Given the description of an element on the screen output the (x, y) to click on. 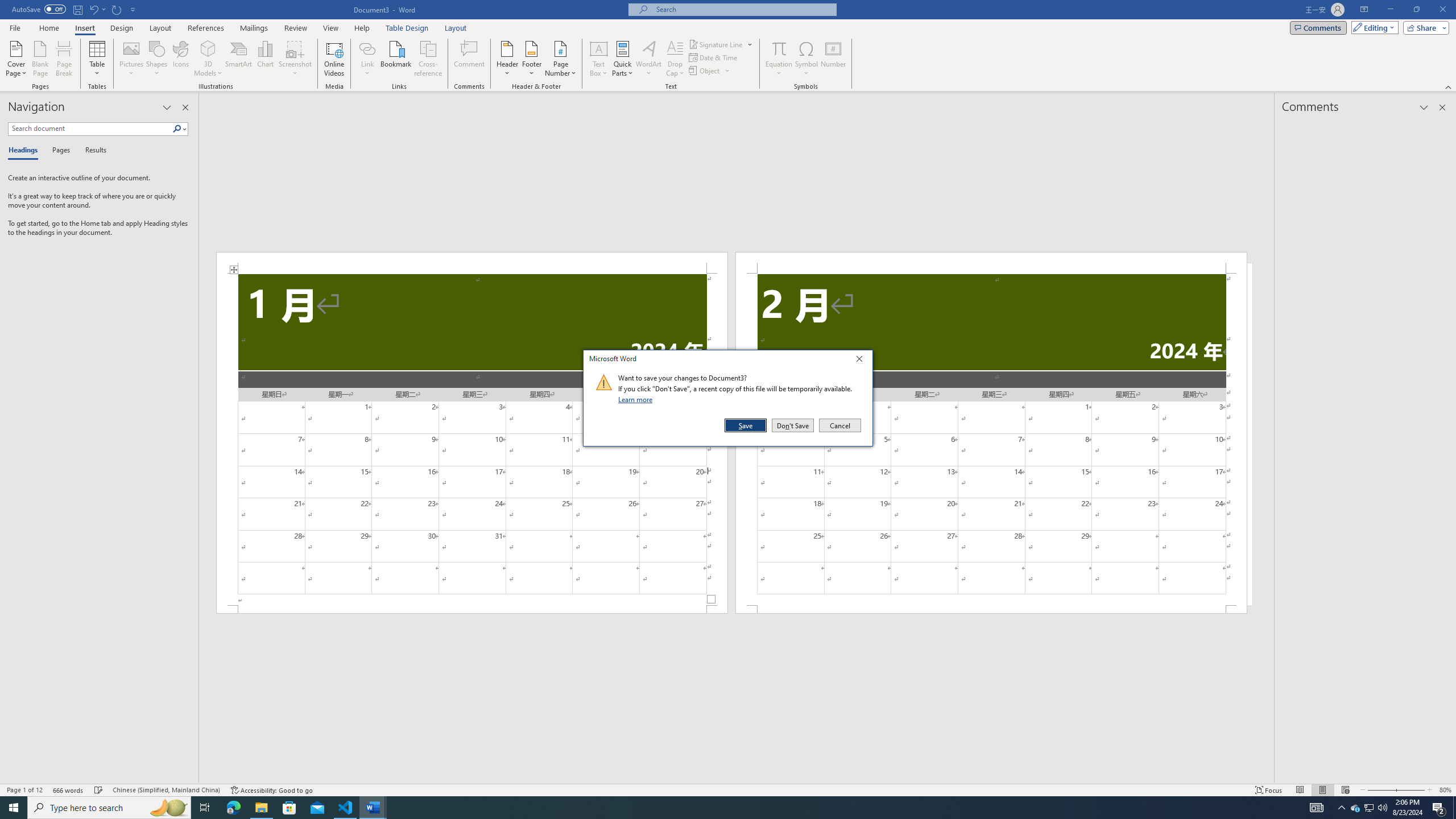
Table Design (407, 28)
Action Center, 2 new notifications (1439, 807)
Microsoft Store (289, 807)
Signature Line (721, 44)
Task View (204, 807)
Undo Increase Indent (96, 9)
WordArt (648, 58)
Accessibility Checker Accessibility: Good to go (271, 790)
Search highlights icon opens search home window (167, 807)
Quick Parts (622, 58)
